Given the description of an element on the screen output the (x, y) to click on. 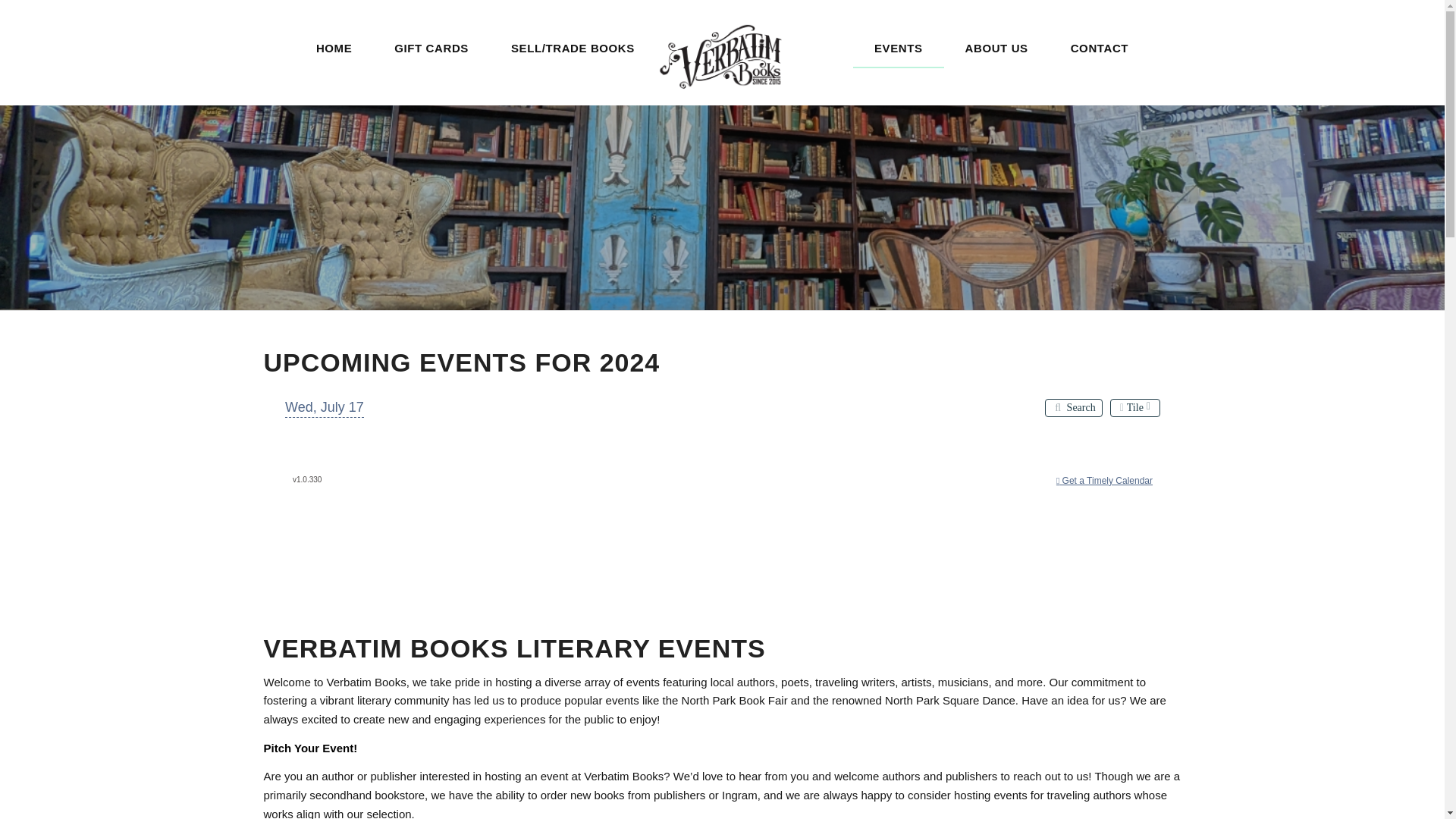
GIFT CARDS (430, 48)
ABOUT US (996, 48)
HOME (333, 48)
Focus Button (298, 390)
verbatim-books-logo (721, 55)
EVENTS (898, 48)
CONTACT (1099, 48)
